Given the description of an element on the screen output the (x, y) to click on. 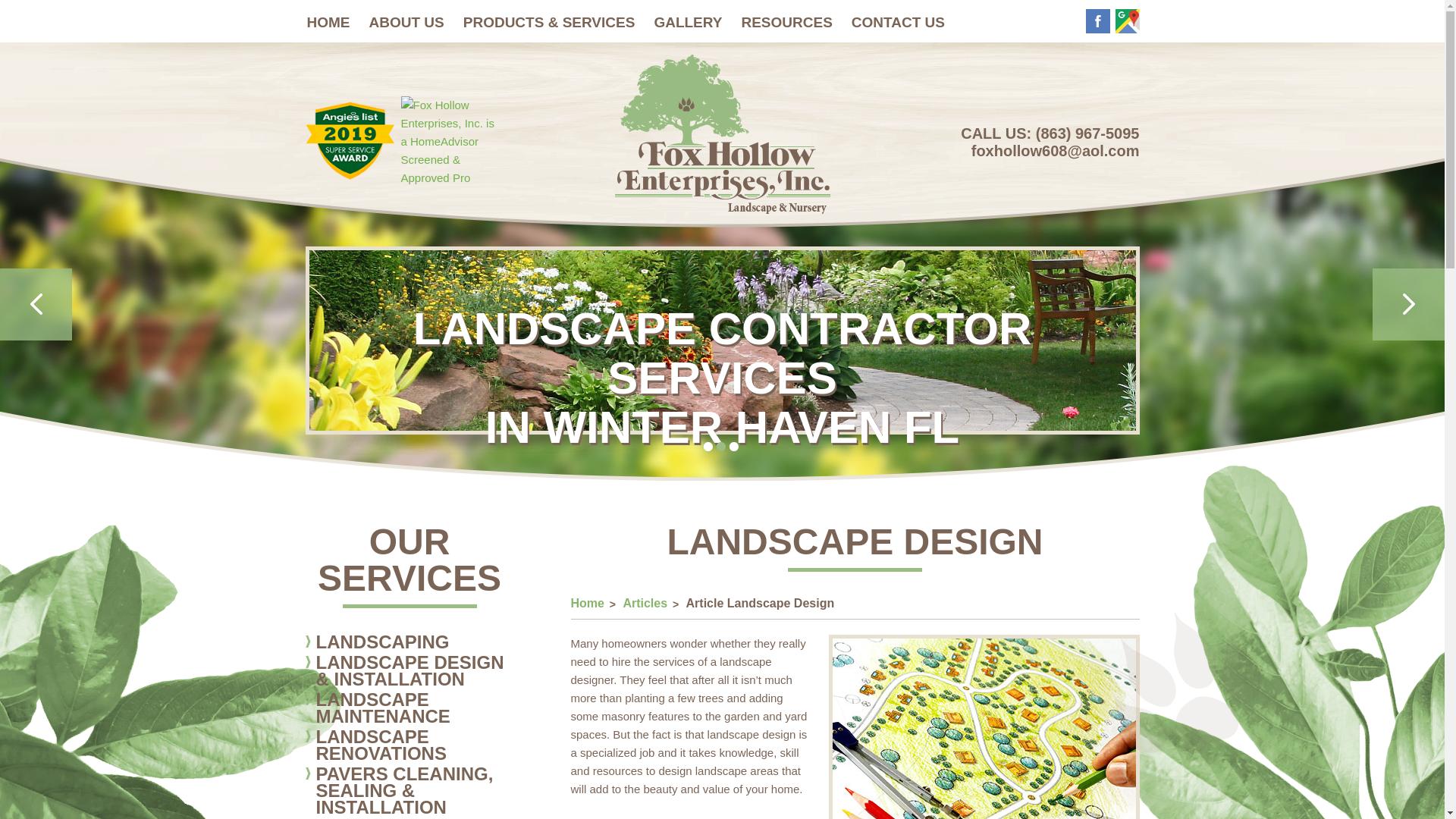
ABOUT US (413, 21)
HOME (335, 21)
GALLERY (695, 21)
LANDSCAPE MAINTENANCE (408, 709)
Home (587, 603)
CONTACT US (906, 21)
LANDSCAPING (408, 643)
LANDSCAPE RENOVATIONS (408, 746)
Articles (644, 603)
RESOURCES (793, 21)
